Given the description of an element on the screen output the (x, y) to click on. 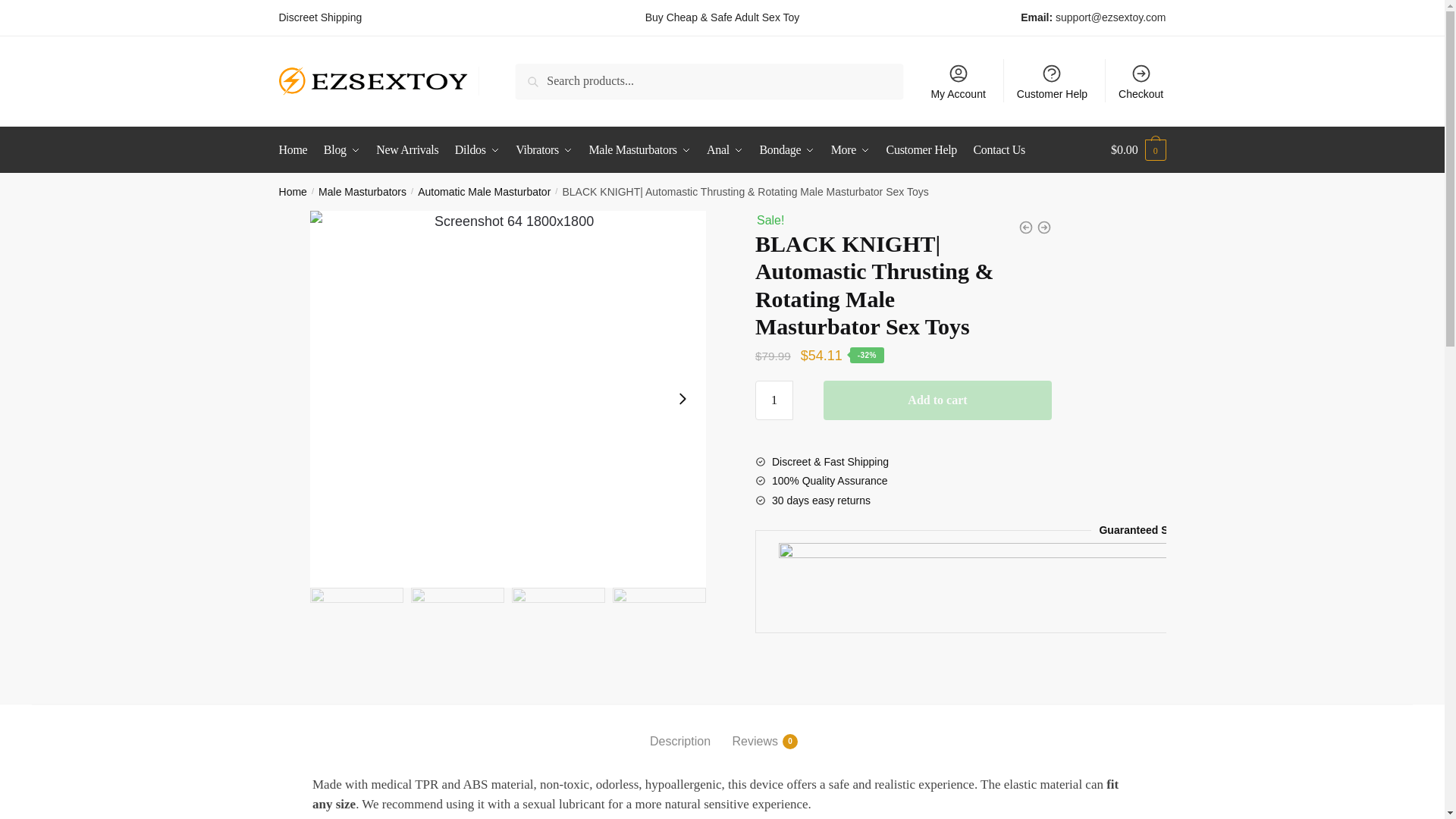
Customer Help (1052, 80)
My Account (957, 80)
Search (550, 80)
Dildos (476, 149)
Blog (341, 149)
1 (774, 400)
View your shopping cart (1138, 149)
Checkout (1141, 80)
Vibrators (543, 149)
New Arrivals (406, 149)
